Given the description of an element on the screen output the (x, y) to click on. 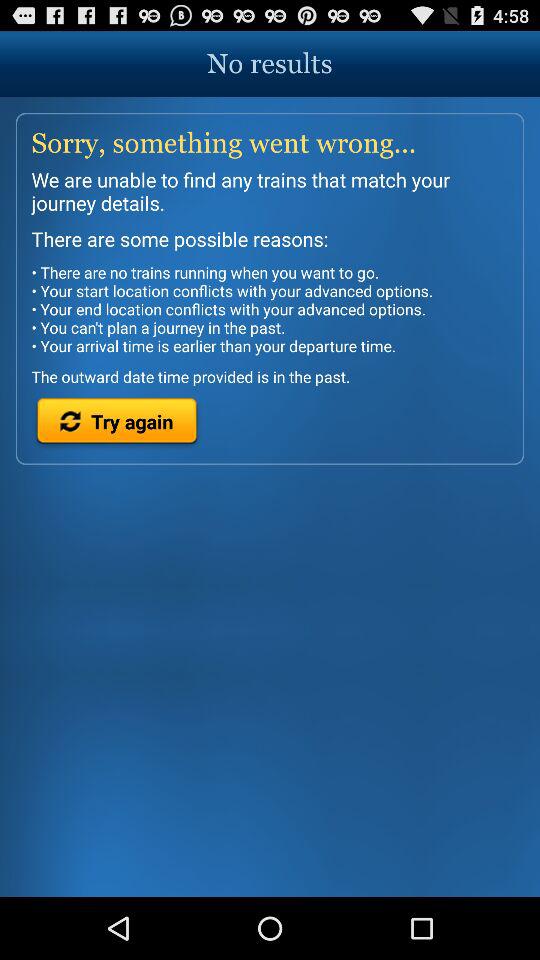
scroll until the try again icon (116, 423)
